Given the description of an element on the screen output the (x, y) to click on. 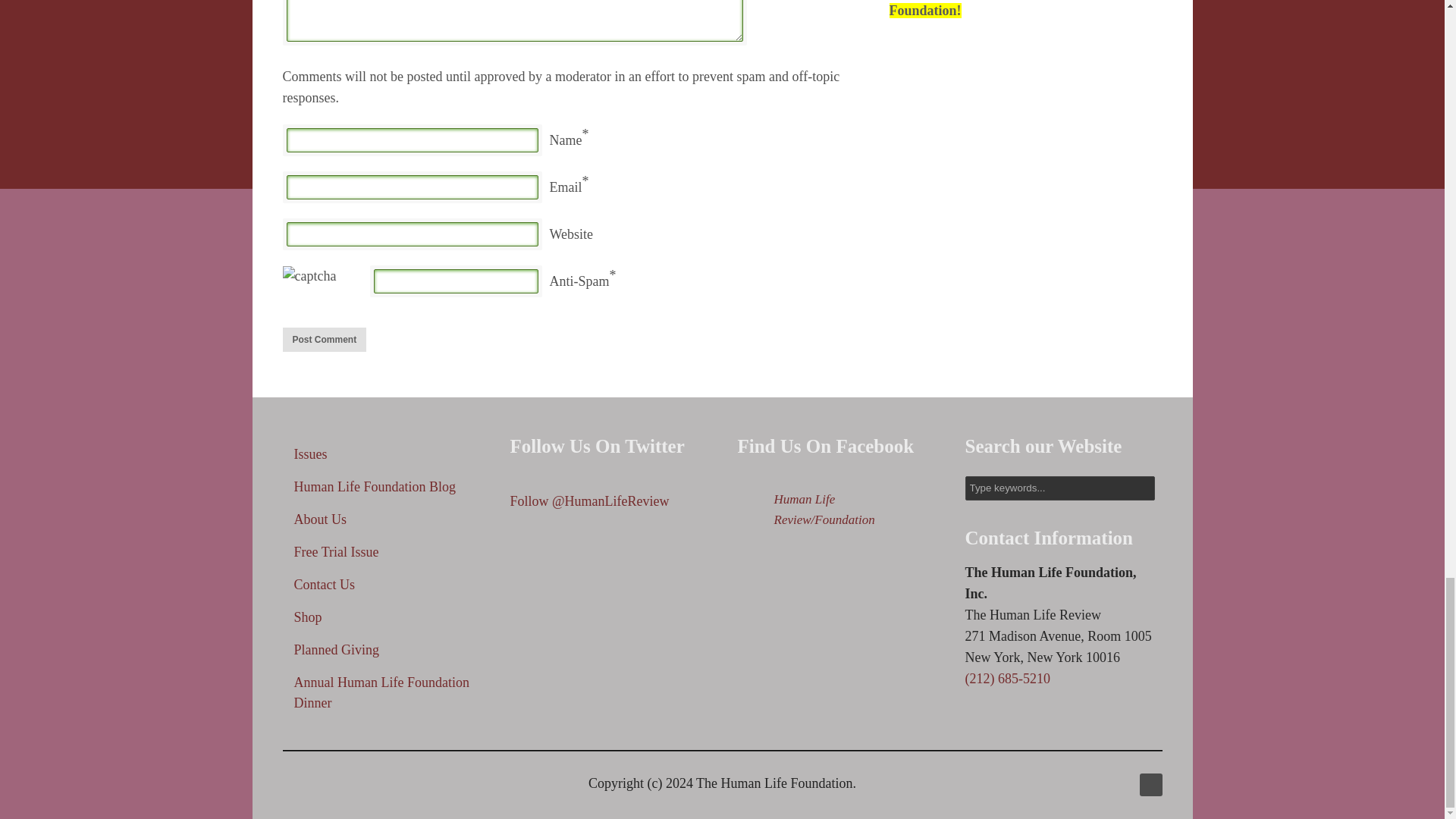
Type keywords... (1058, 487)
Post Comment (324, 339)
